Given the description of an element on the screen output the (x, y) to click on. 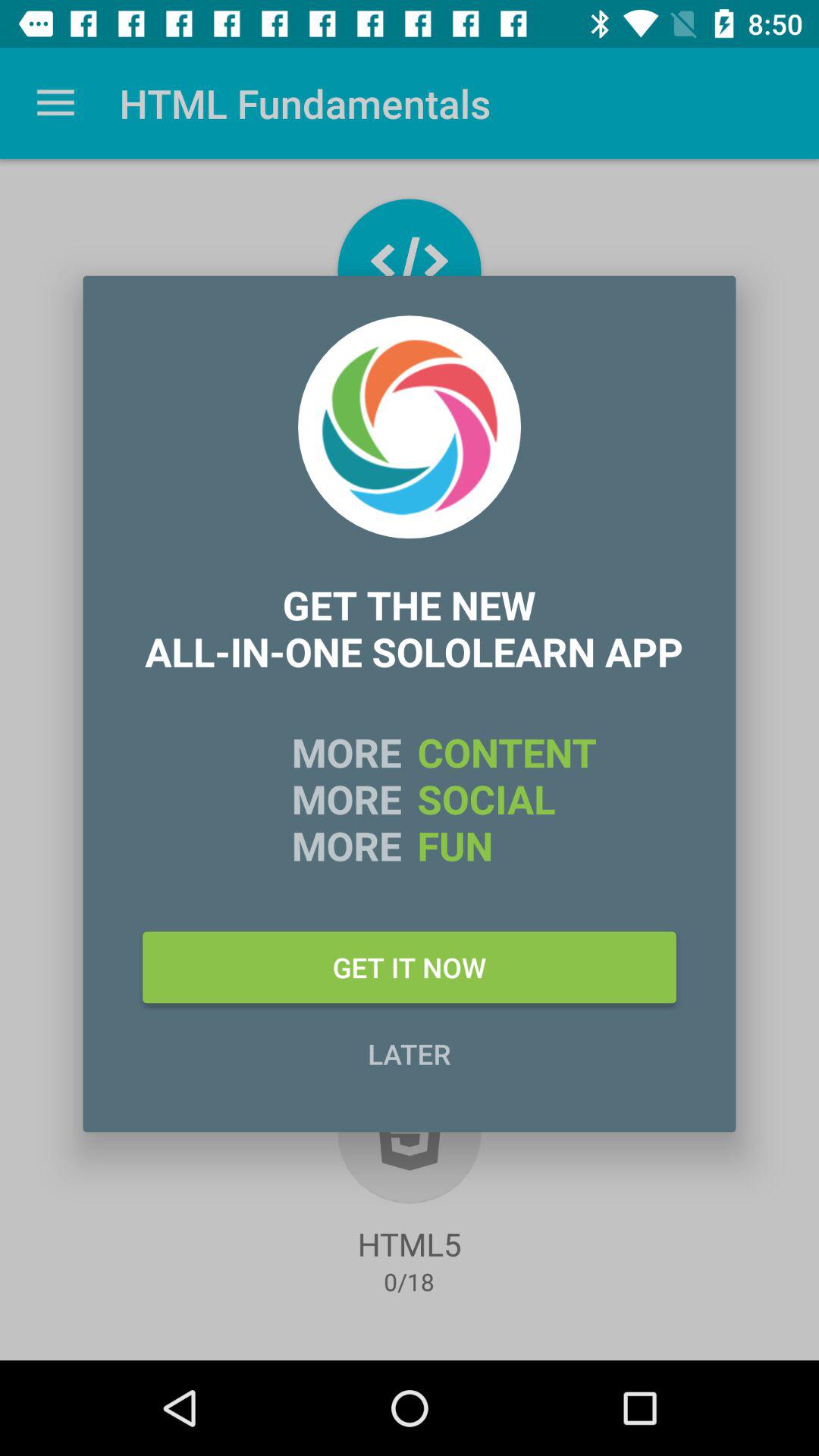
turn on the item above later (409, 967)
